Given the description of an element on the screen output the (x, y) to click on. 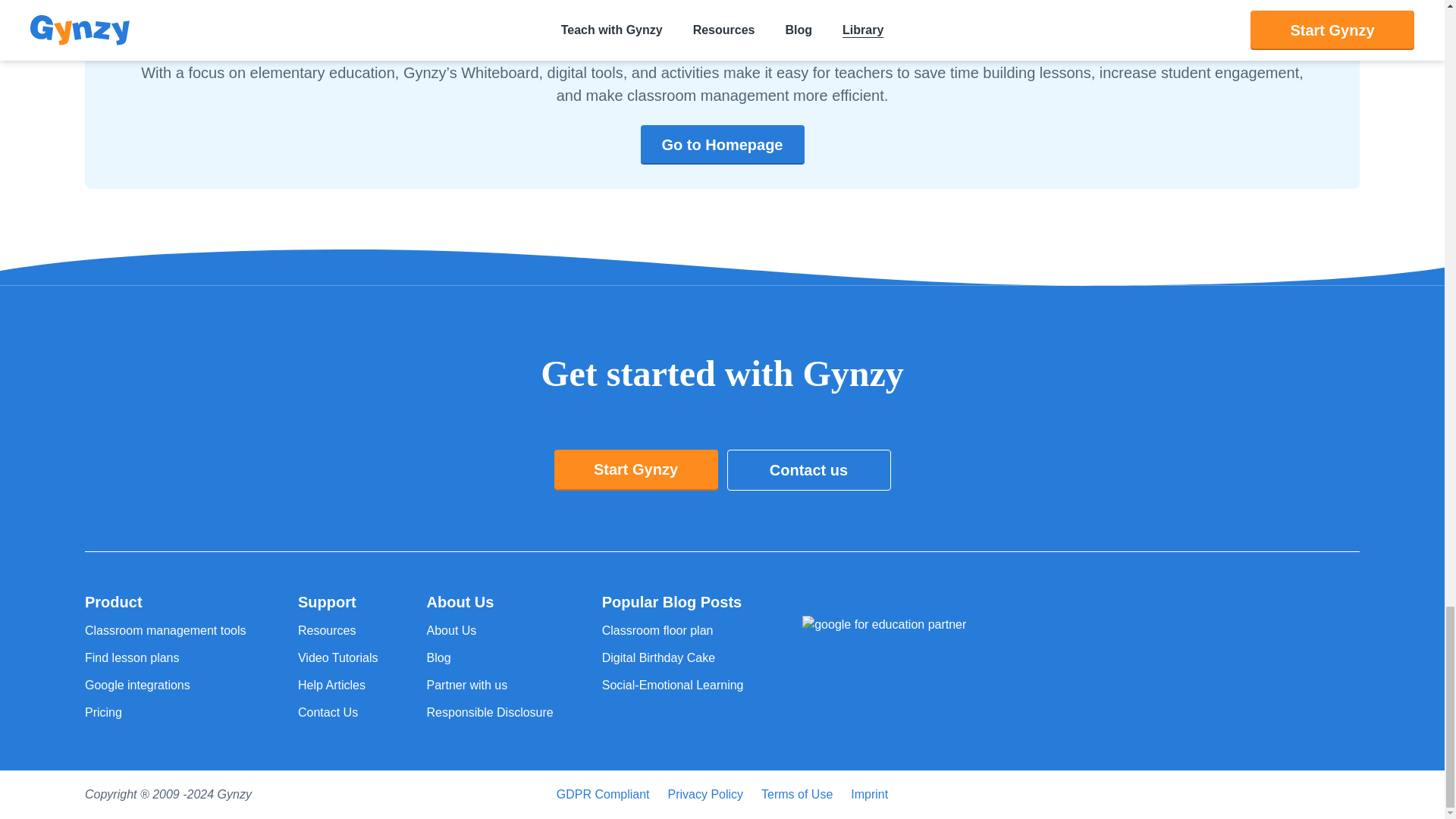
Help Articles (338, 685)
Contact us (807, 469)
Start Gynzy (635, 469)
Find lesson plans (166, 658)
Pricing (166, 712)
Classroom management tools  (166, 630)
Product (166, 601)
Resources (338, 630)
Video Tutorials (338, 658)
Google integrations (166, 685)
